Given the description of an element on the screen output the (x, y) to click on. 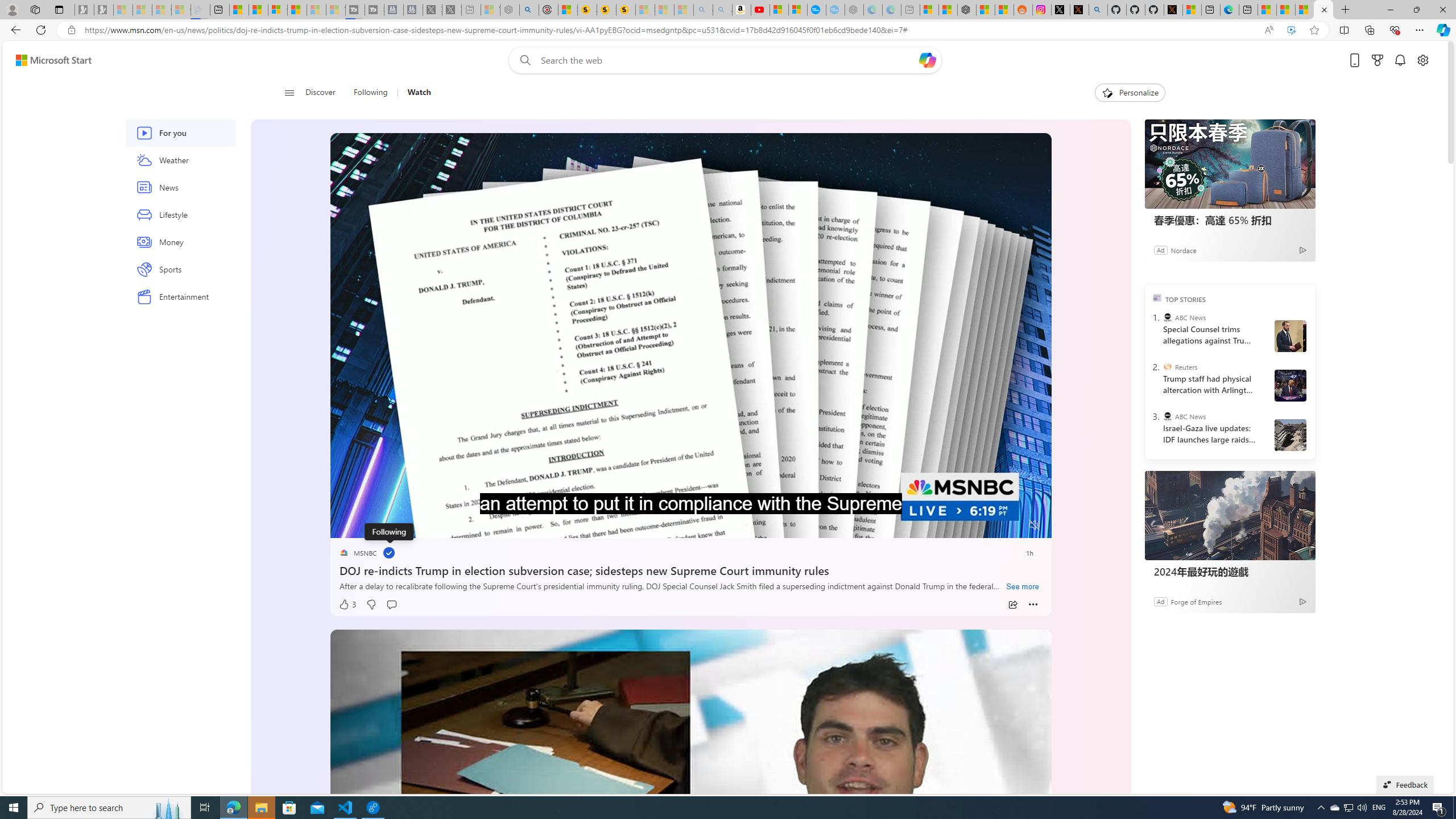
More (1033, 604)
Newsletter Sign Up - Sleeping (102, 9)
Nordace - Summer Adventures 2024 - Sleeping (509, 9)
Streaming Coverage | T3 - Sleeping (354, 9)
Unmute (1034, 524)
More (1033, 604)
Notifications (1400, 60)
